Given the description of an element on the screen output the (x, y) to click on. 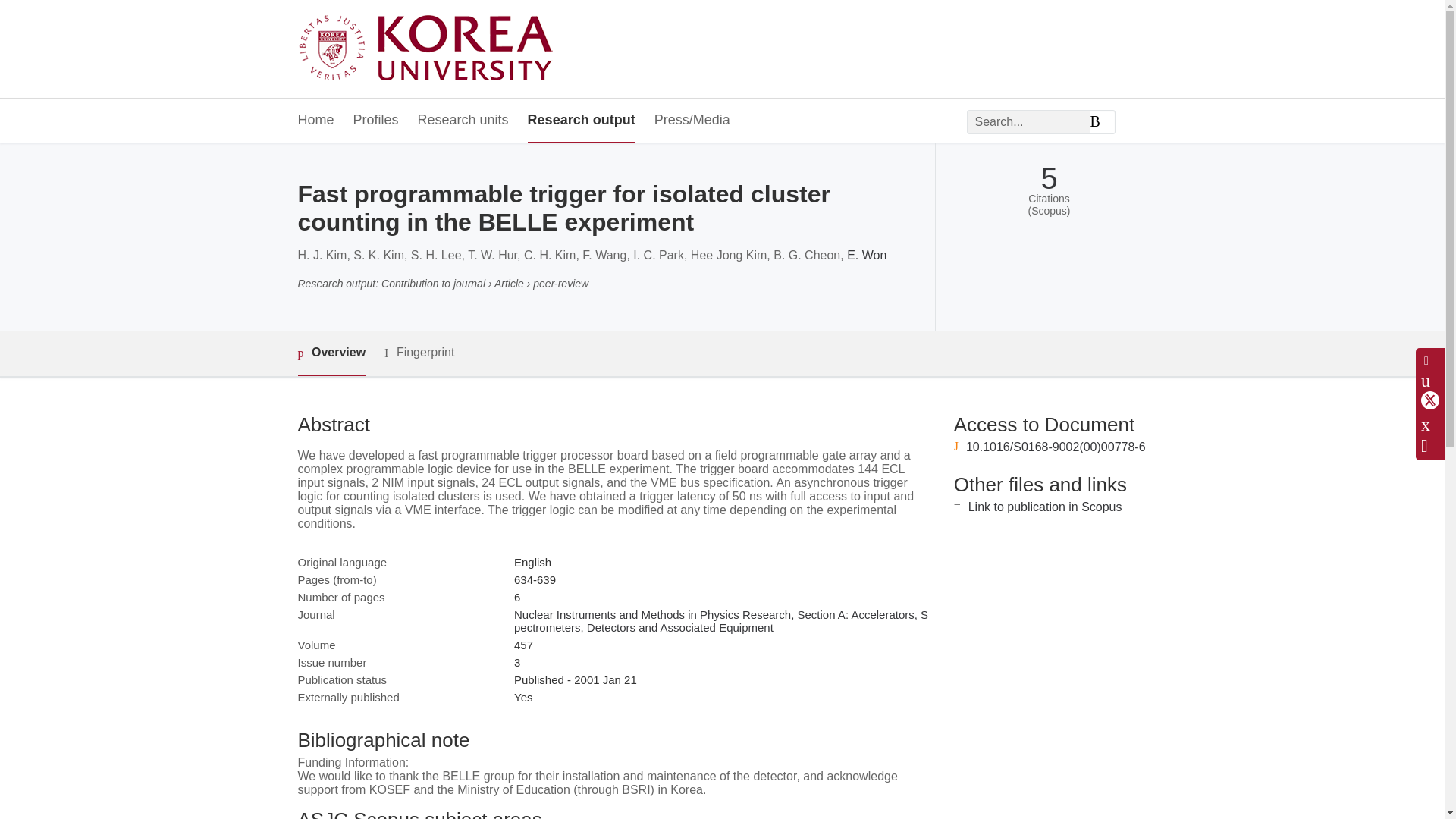
Korea University Home (429, 49)
Fingerprint (419, 352)
Link to publication in Scopus (1045, 506)
E. Won (866, 254)
Research output (580, 120)
Profiles (375, 120)
Overview (331, 353)
Research units (462, 120)
